Given the description of an element on the screen output the (x, y) to click on. 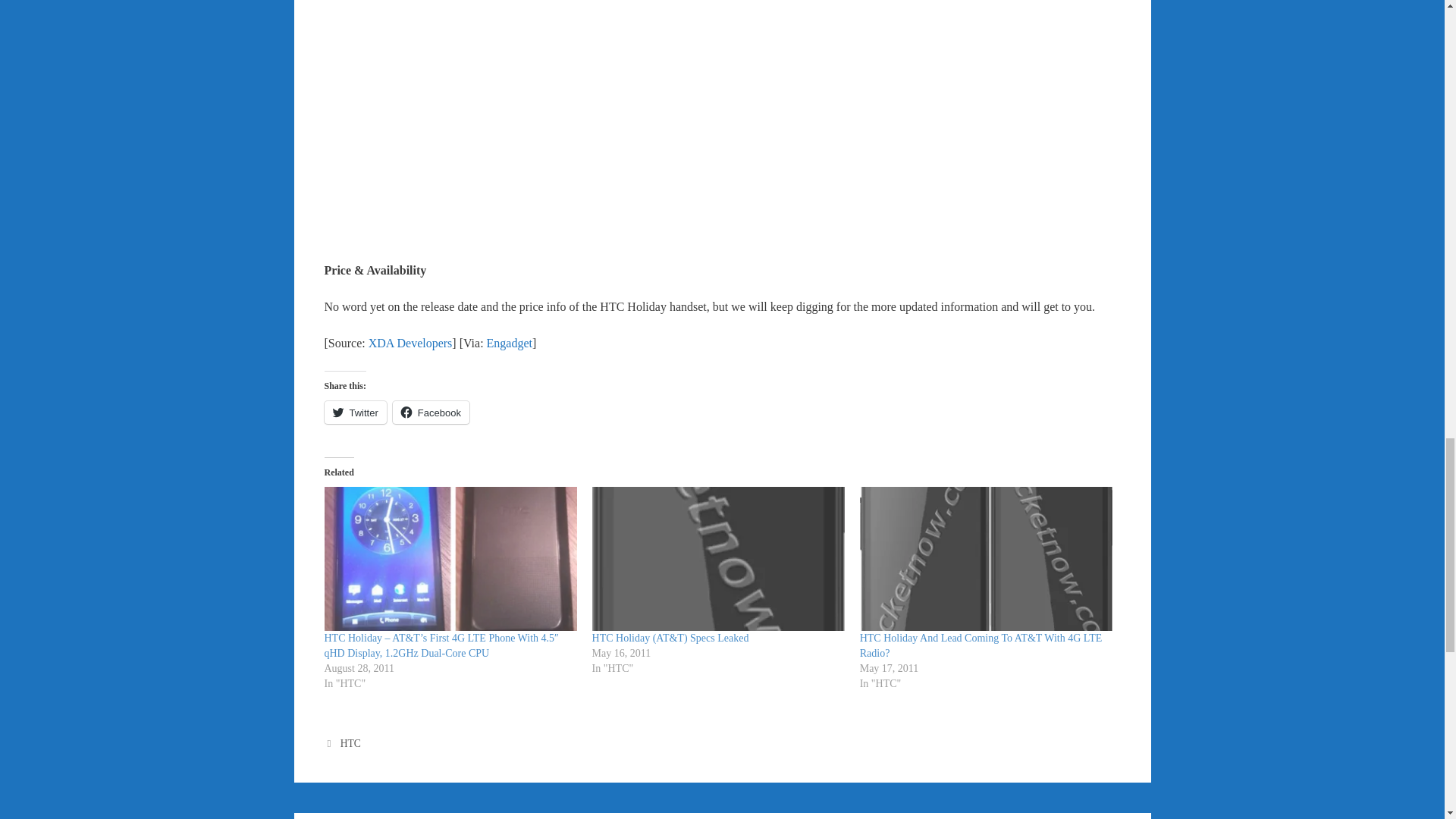
XDA Developers (410, 342)
Click to share on Twitter (355, 412)
HTC (350, 743)
Engadget (509, 342)
Facebook (430, 412)
Twitter (355, 412)
Click to share on Facebook (430, 412)
